Given the description of an element on the screen output the (x, y) to click on. 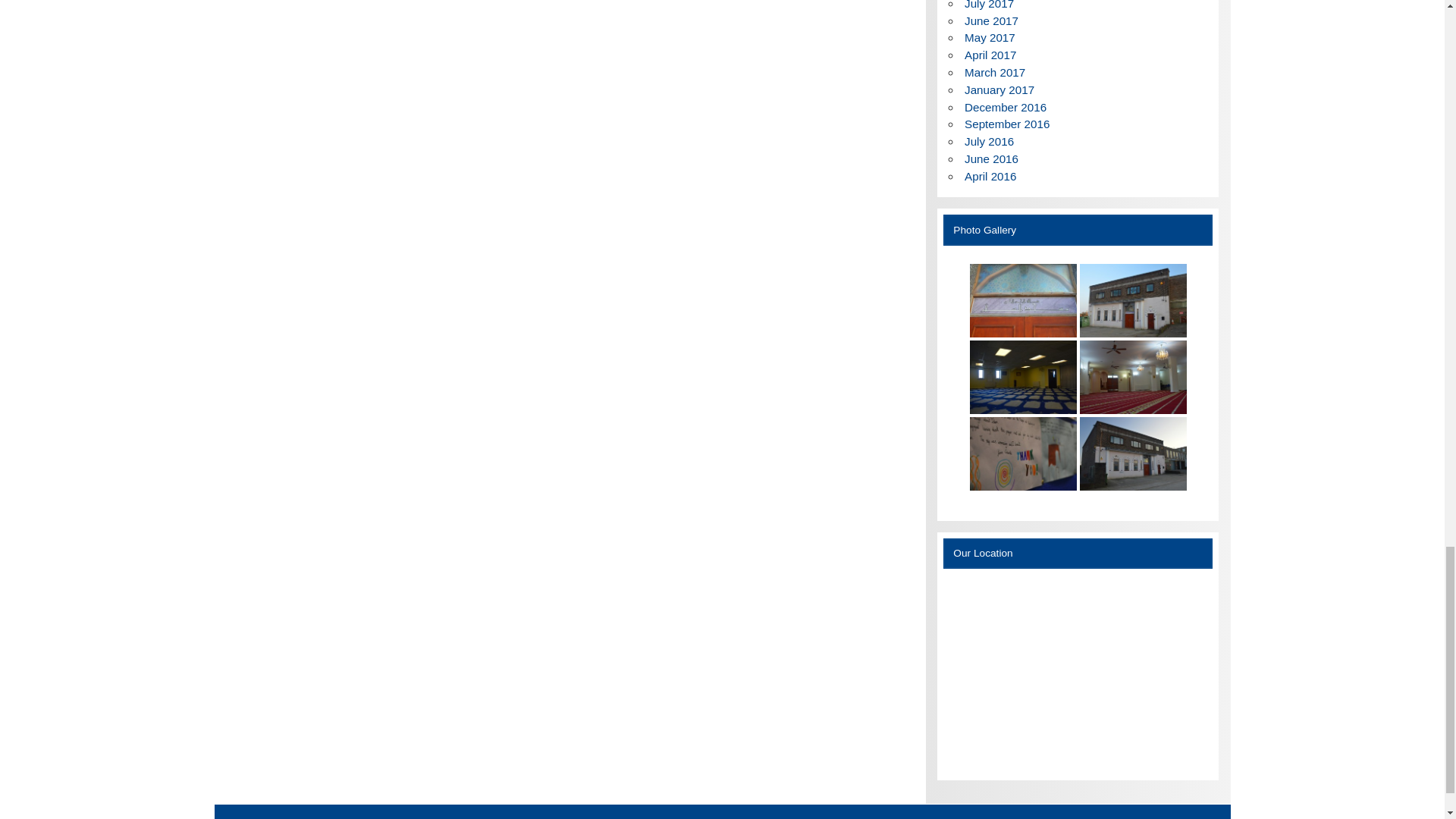
Untitled-2        (1023, 453)
Untitled-3        (1133, 377)
Untitled-6        (1023, 300)
Untitled-4        (1023, 377)
Untitled-1        (1133, 453)
Untitled-5        (1133, 300)
